Given the description of an element on the screen output the (x, y) to click on. 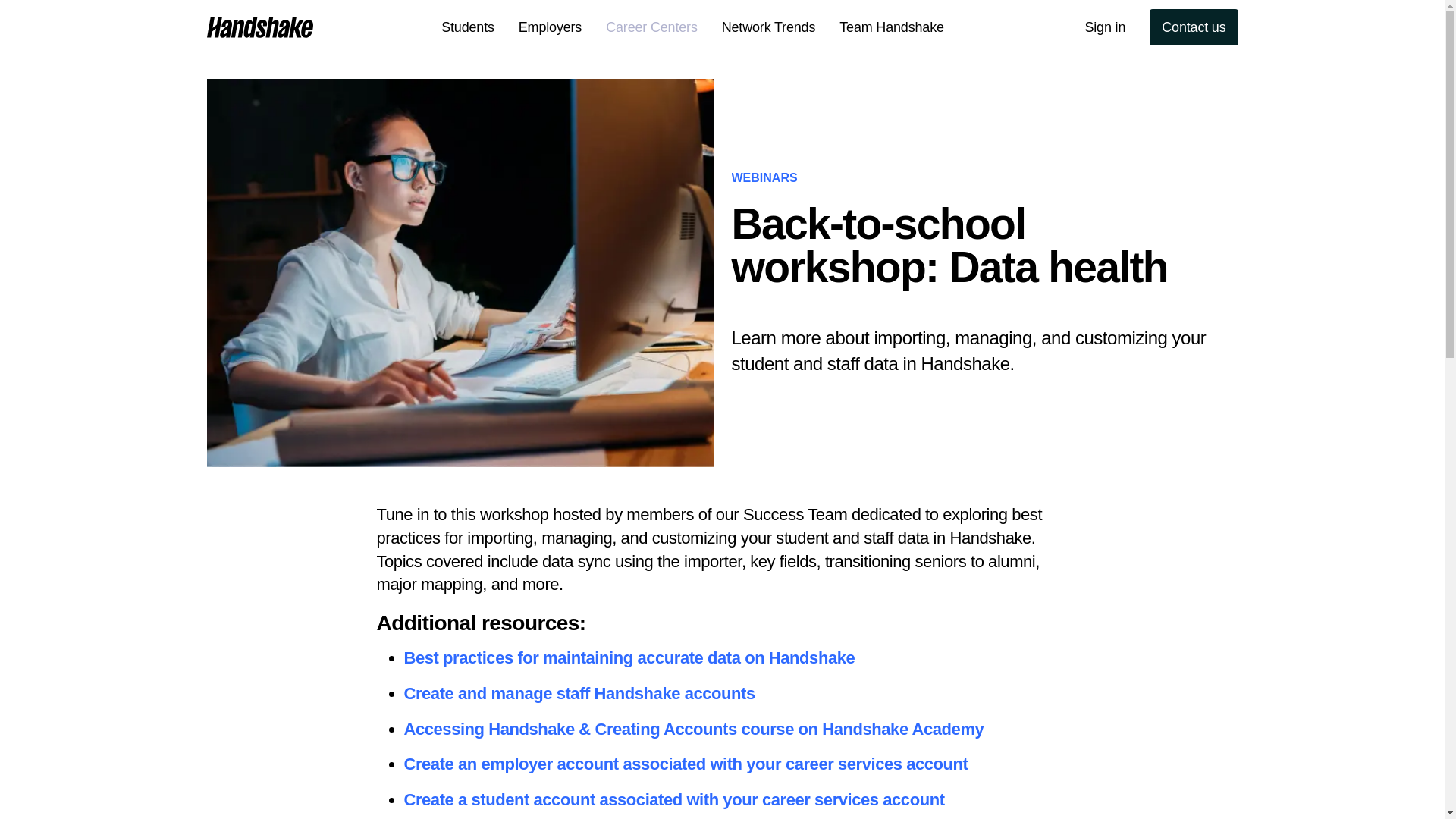
Team Handshake (891, 26)
Sign in (1104, 26)
Create and manage staff Handshake accounts (578, 692)
Career Centers (652, 26)
Best practices for maintaining accurate data on Handshake (628, 657)
Network Trends (769, 26)
WEBINARS (763, 177)
Homepage (259, 26)
Employers (550, 26)
Blog (337, 26)
Students (467, 26)
Additional resources: (721, 623)
Contact us (1193, 27)
